Given the description of an element on the screen output the (x, y) to click on. 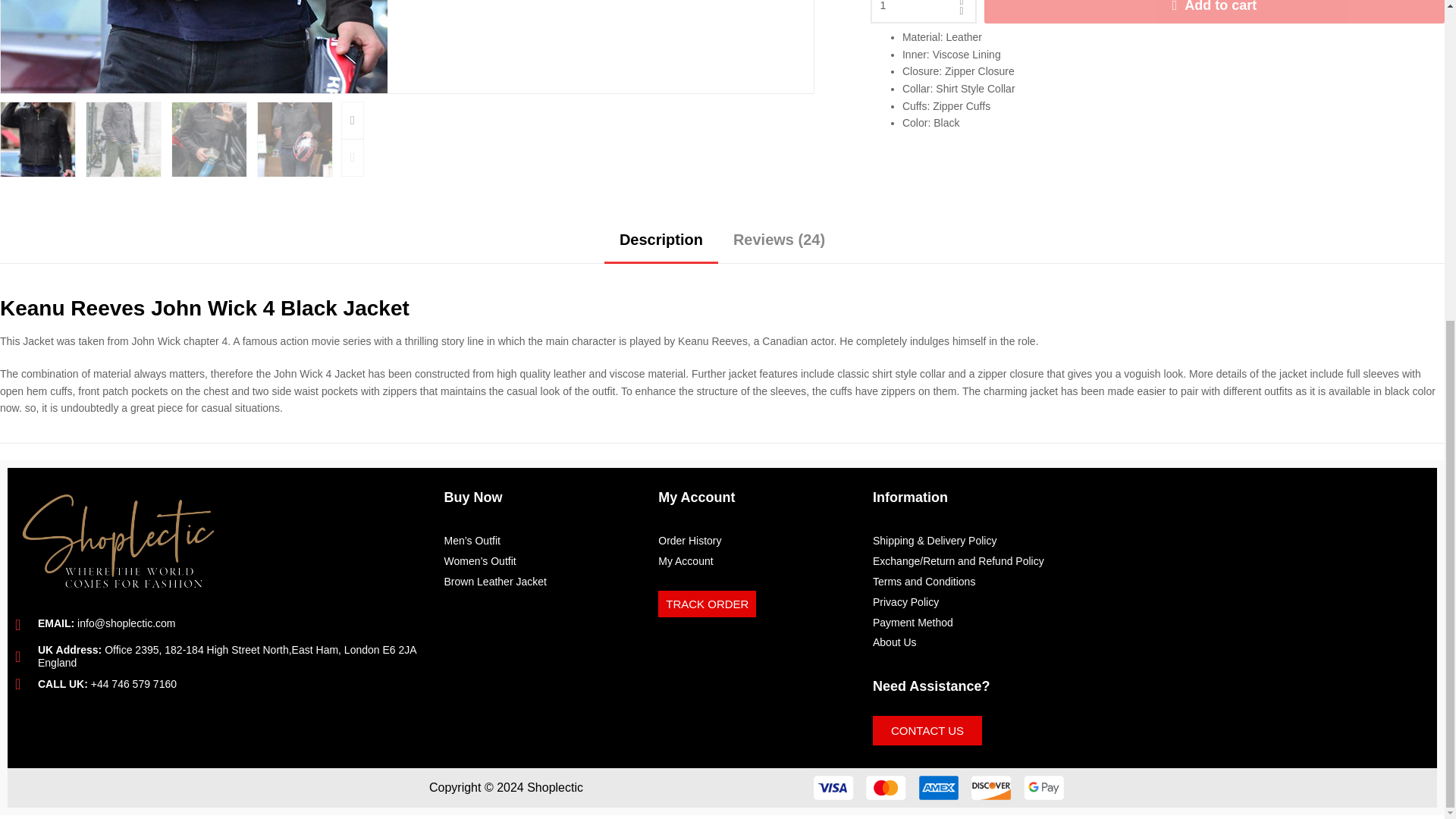
Keanu-John-Wick-Chapter-4-Jacket-1 (1006, 46)
Next (352, 120)
1 (923, 11)
John-Wick-Chapter-4-Jacket (194, 46)
Description (660, 244)
Previous (352, 157)
